Given the description of an element on the screen output the (x, y) to click on. 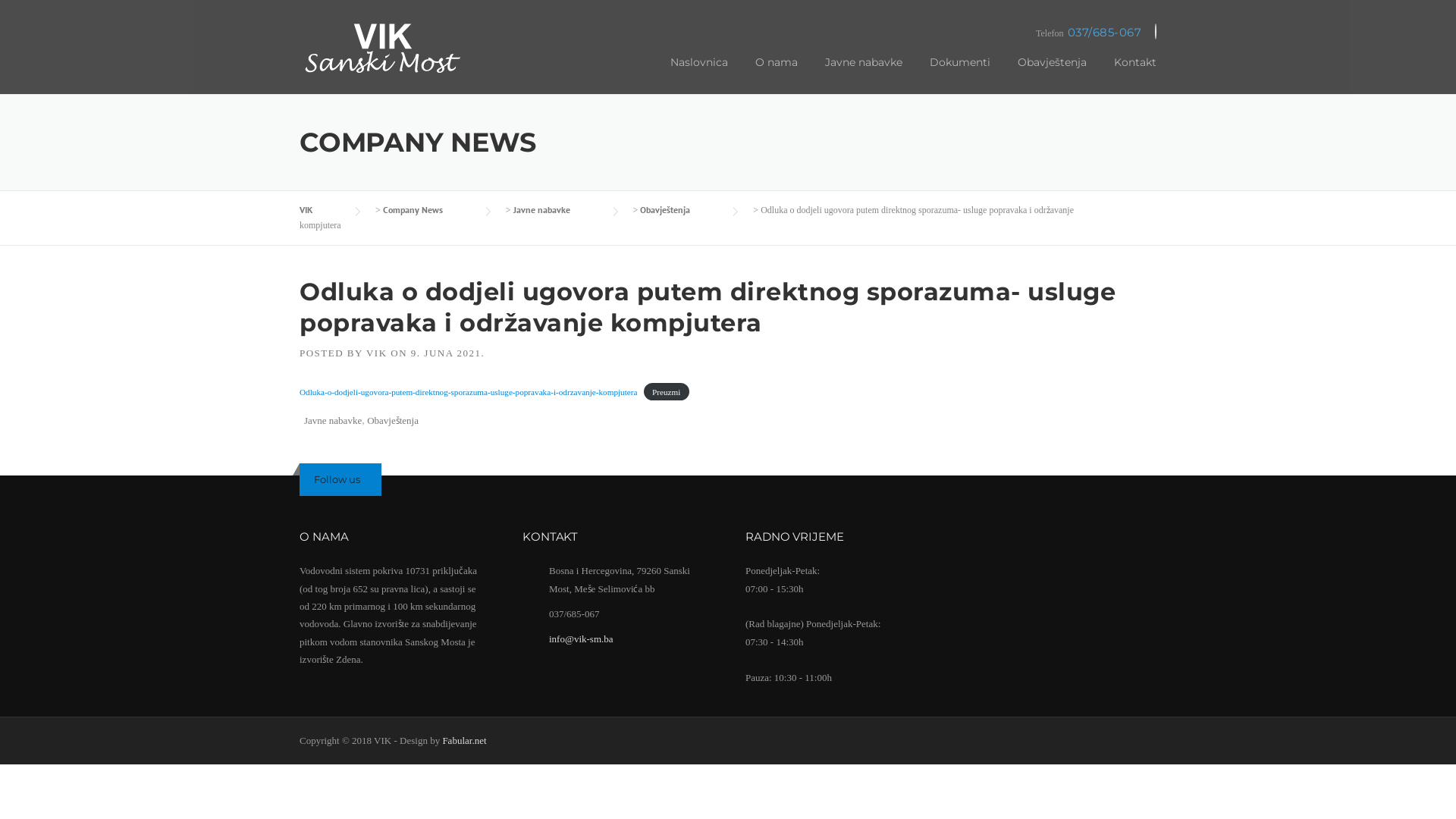
Naslovnica Element type: text (698, 73)
Preuzmi Element type: text (666, 391)
9. JUNA 2021. Element type: text (448, 352)
037/685-067 Element type: text (1104, 32)
VIK Element type: text (376, 352)
Email Element type: hover (1155, 32)
VIK Element type: hover (382, 55)
Kontakt Element type: text (1128, 73)
O nama Element type: text (776, 73)
Fabular.net Element type: text (464, 740)
Javne nabavke Element type: text (863, 73)
Javne nabavke Element type: text (556, 209)
Company News Element type: text (427, 209)
VIK Element type: text (320, 209)
info@vik-sm.ba Element type: text (581, 638)
Javne nabavke Element type: text (332, 420)
Dokumenti Element type: text (960, 73)
